Given the description of an element on the screen output the (x, y) to click on. 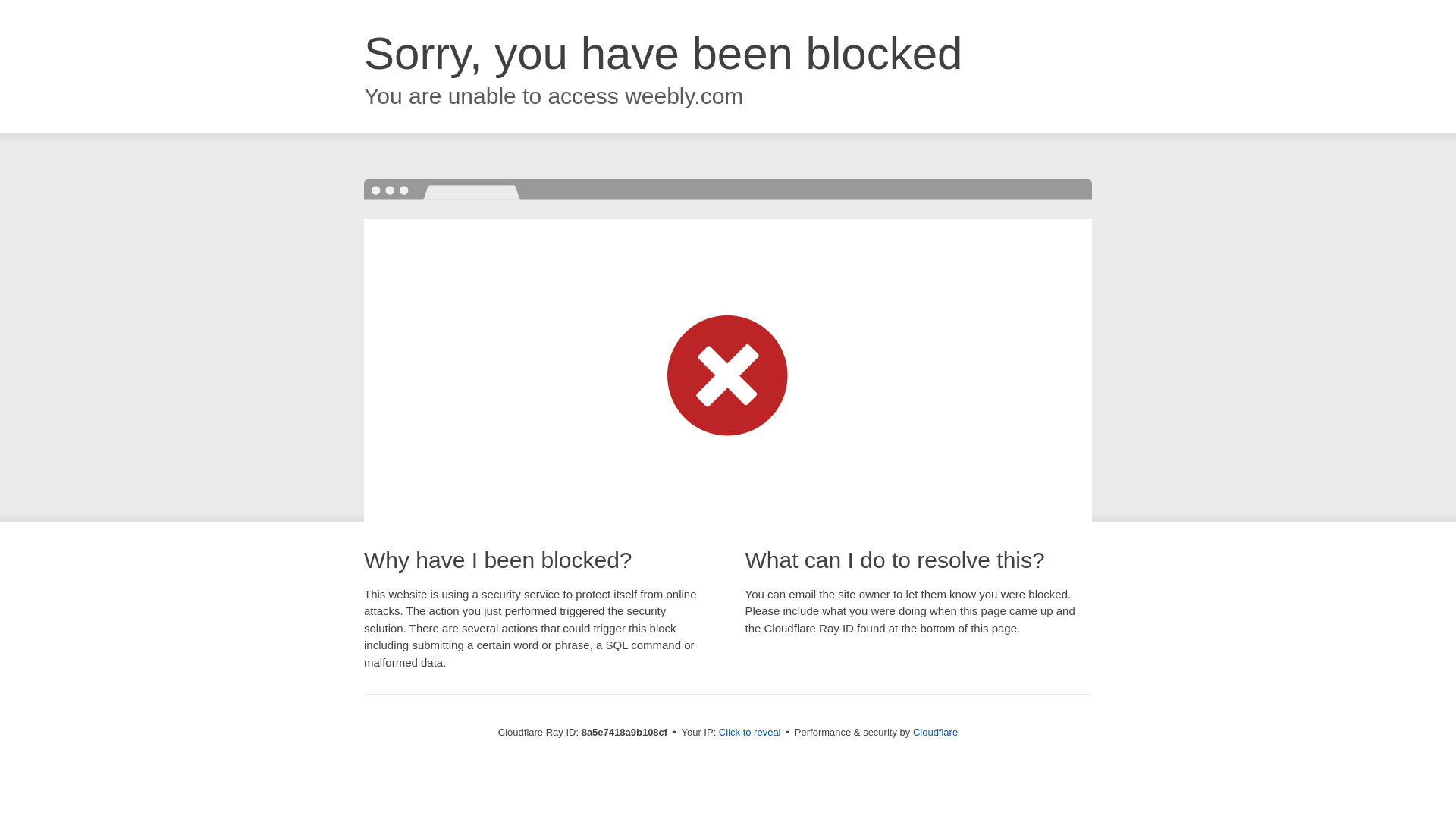
Click to reveal (749, 732)
Cloudflare (935, 731)
